Given the description of an element on the screen output the (x, y) to click on. 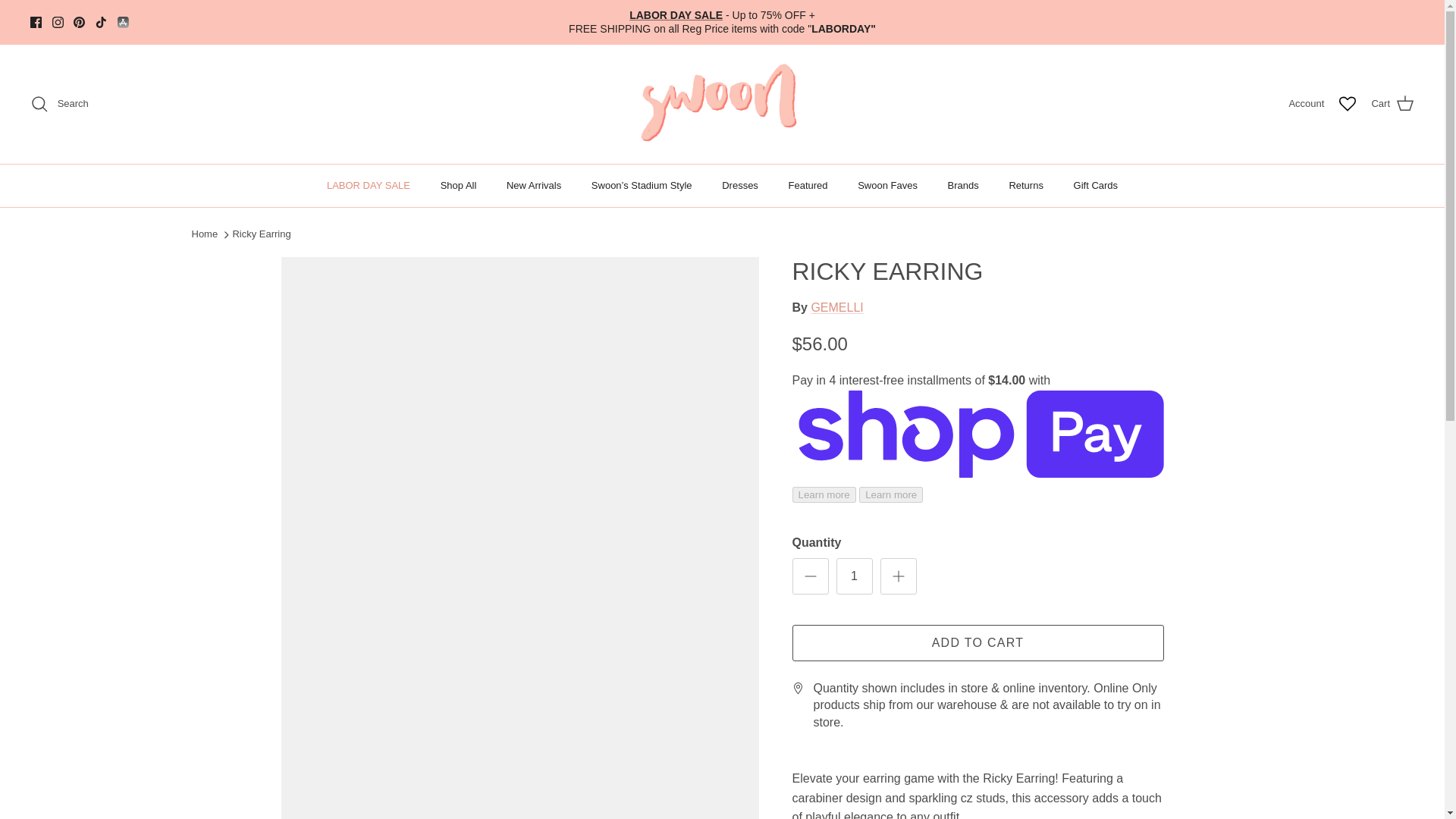
Swoon Boutique New Orleans (722, 103)
Shop All (458, 185)
Instagram (58, 21)
Instagram (58, 21)
Minus (809, 576)
LABOR DAY SALE (675, 15)
Account (1305, 104)
Cart (1392, 103)
Facebook (36, 21)
LABOR DAY SALE (368, 185)
